Given the description of an element on the screen output the (x, y) to click on. 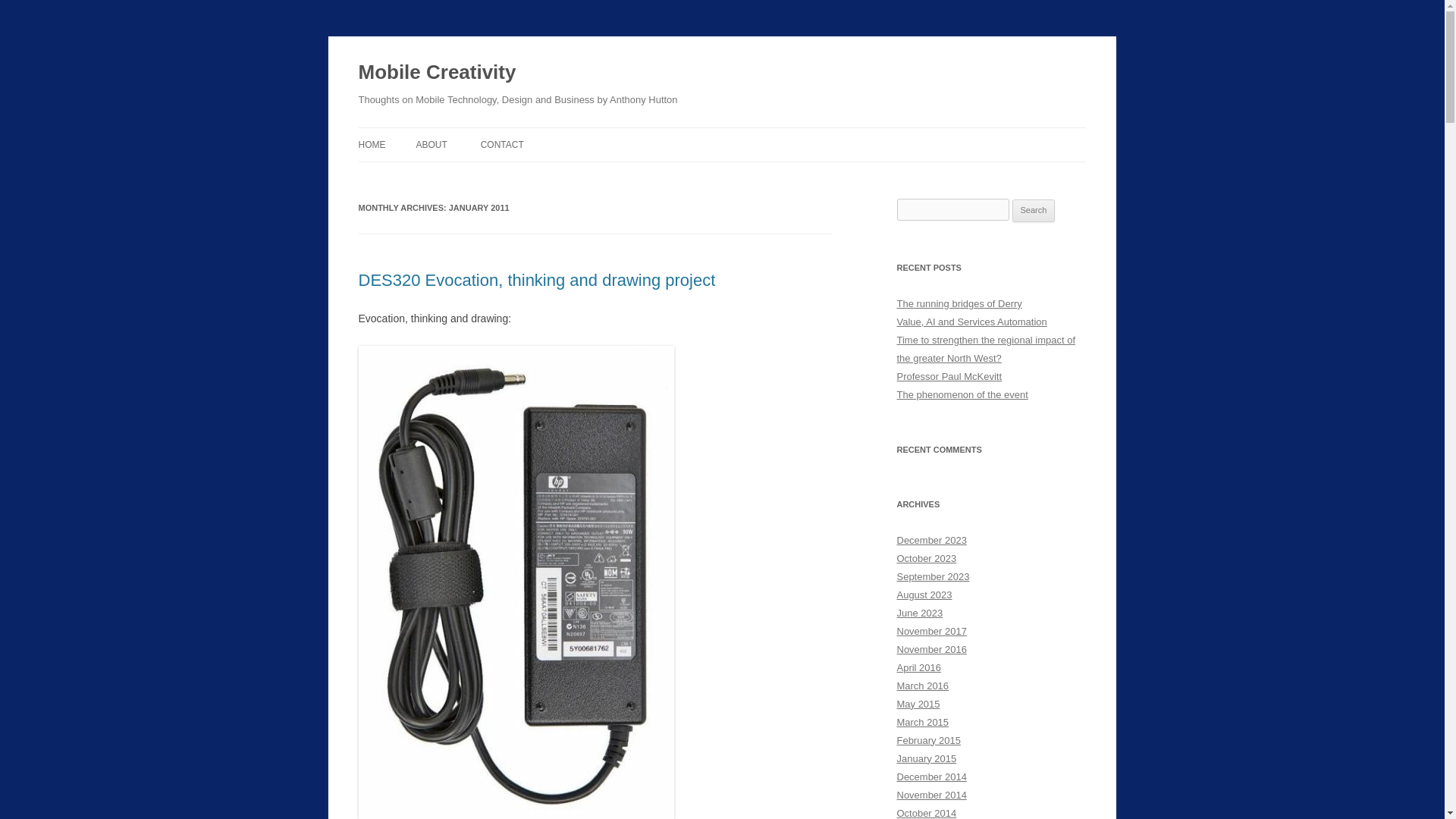
DES320 Evocation, thinking and drawing project (536, 280)
ABOUT (430, 144)
Mobile Creativity (436, 72)
CONTACT (502, 144)
Mobile Creativity (436, 72)
Search (1033, 210)
chargerblock.jpg (515, 814)
